Given the description of an element on the screen output the (x, y) to click on. 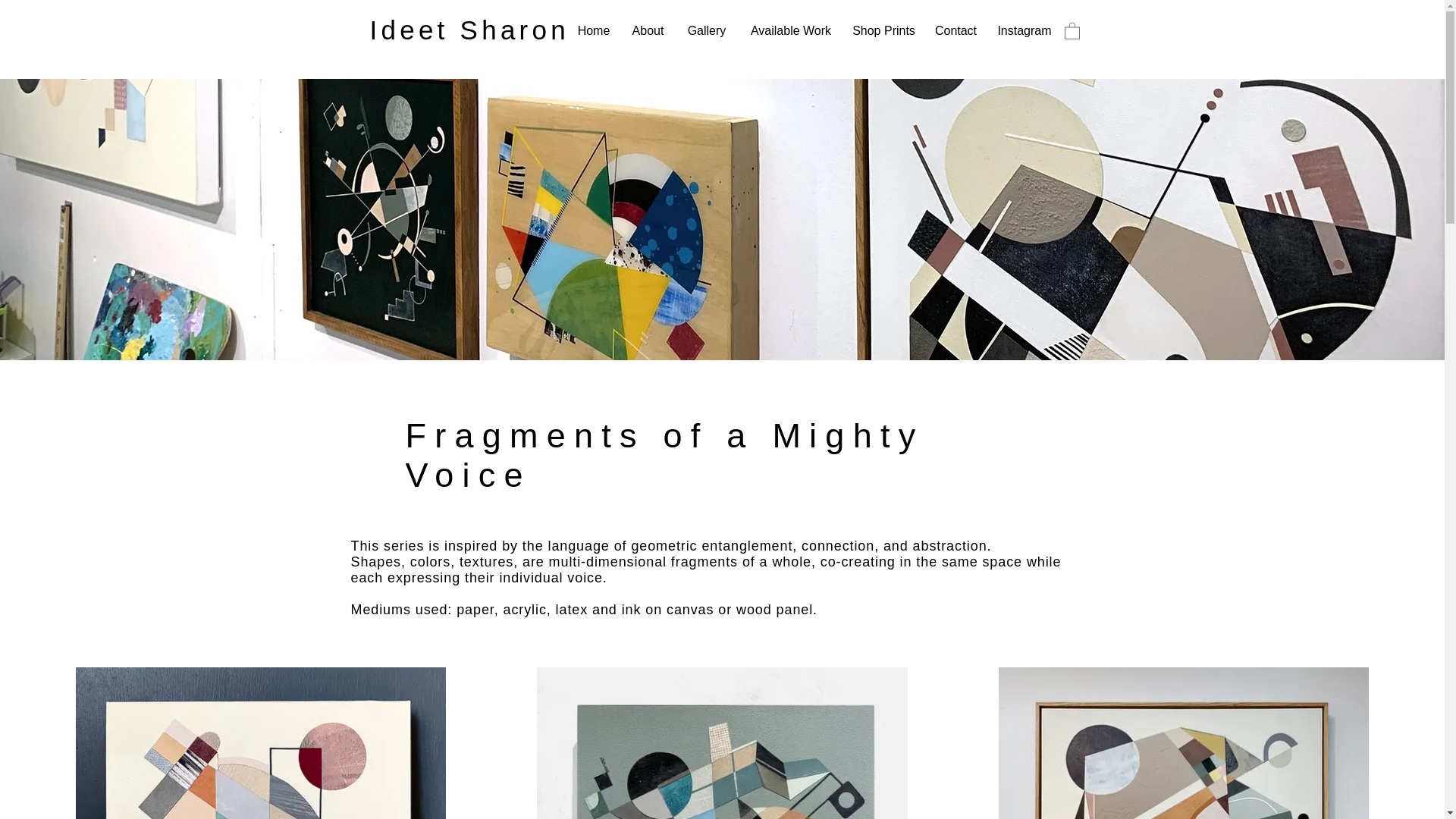
Available Work (791, 30)
Gallery (706, 30)
About (647, 30)
Instagram (1024, 30)
Shop Prints (883, 30)
Home (594, 30)
Contact (955, 30)
